Given the description of an element on the screen output the (x, y) to click on. 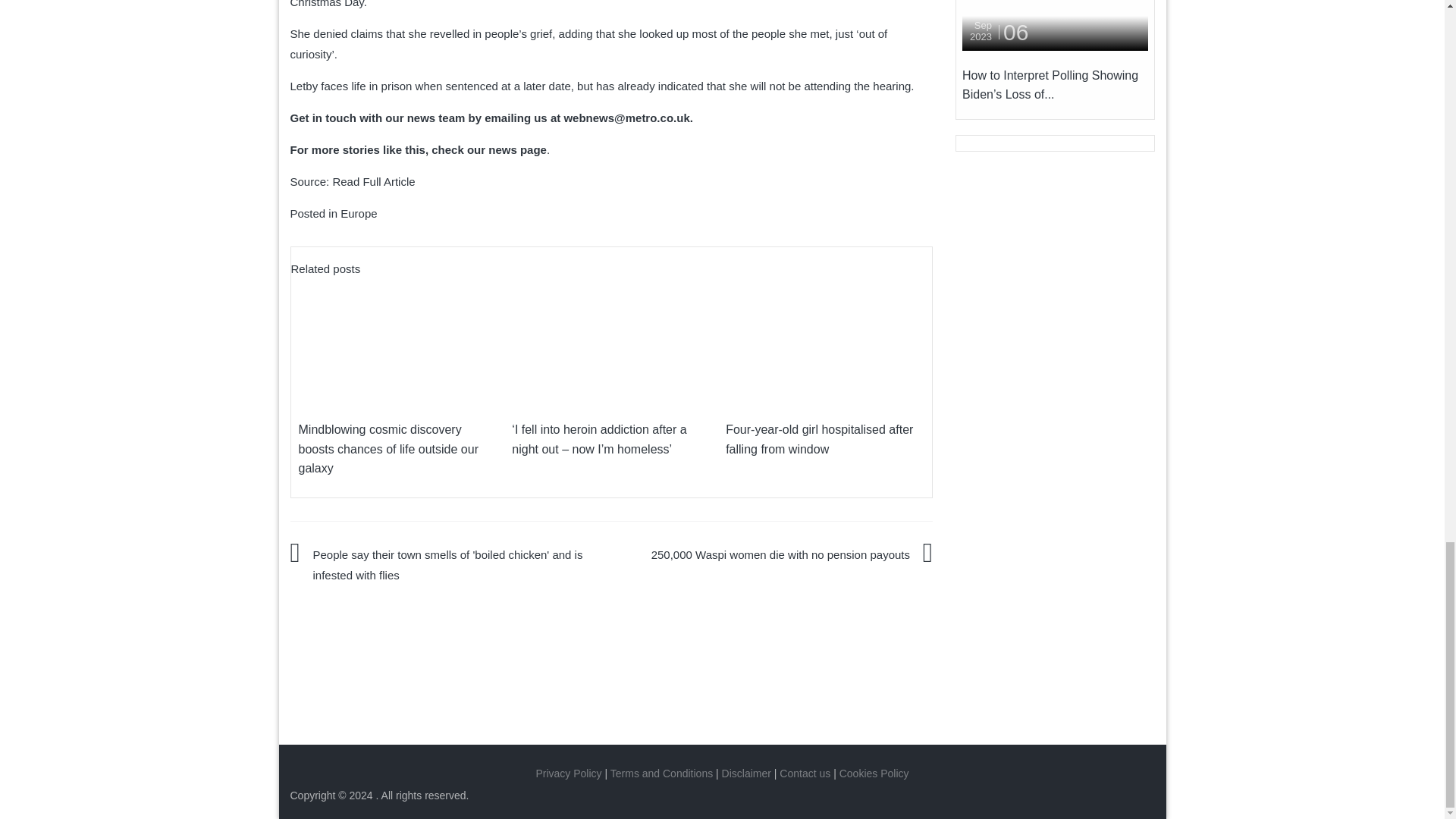
Europe (358, 213)
Four-year-old girl hospitalised after falling from window (818, 439)
Four-year-old girl hospitalised after falling from window (824, 340)
Four-year-old girl hospitalised after falling from window (824, 341)
Read Full Article (372, 181)
